Given the description of an element on the screen output the (x, y) to click on. 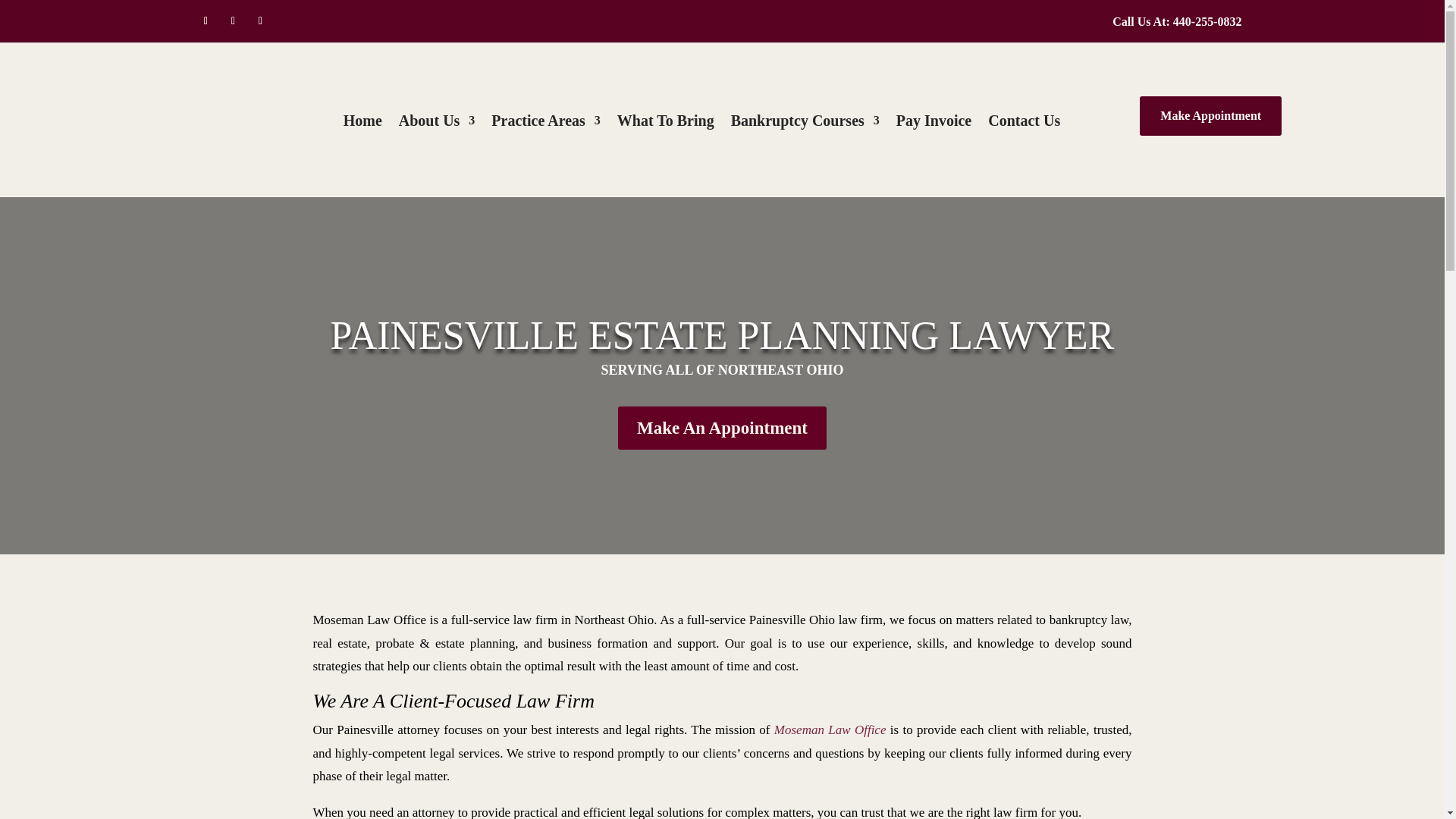
What To Bring (665, 123)
Practice Areas (545, 123)
Follow on Google (260, 20)
Follow on Facebook (205, 20)
Pay Invoice (933, 123)
Home (362, 123)
Bankruptcy Courses (804, 123)
ML-Logo (190, 119)
Moseman Law Office (830, 729)
Make Appointment (1210, 115)
